Given the description of an element on the screen output the (x, y) to click on. 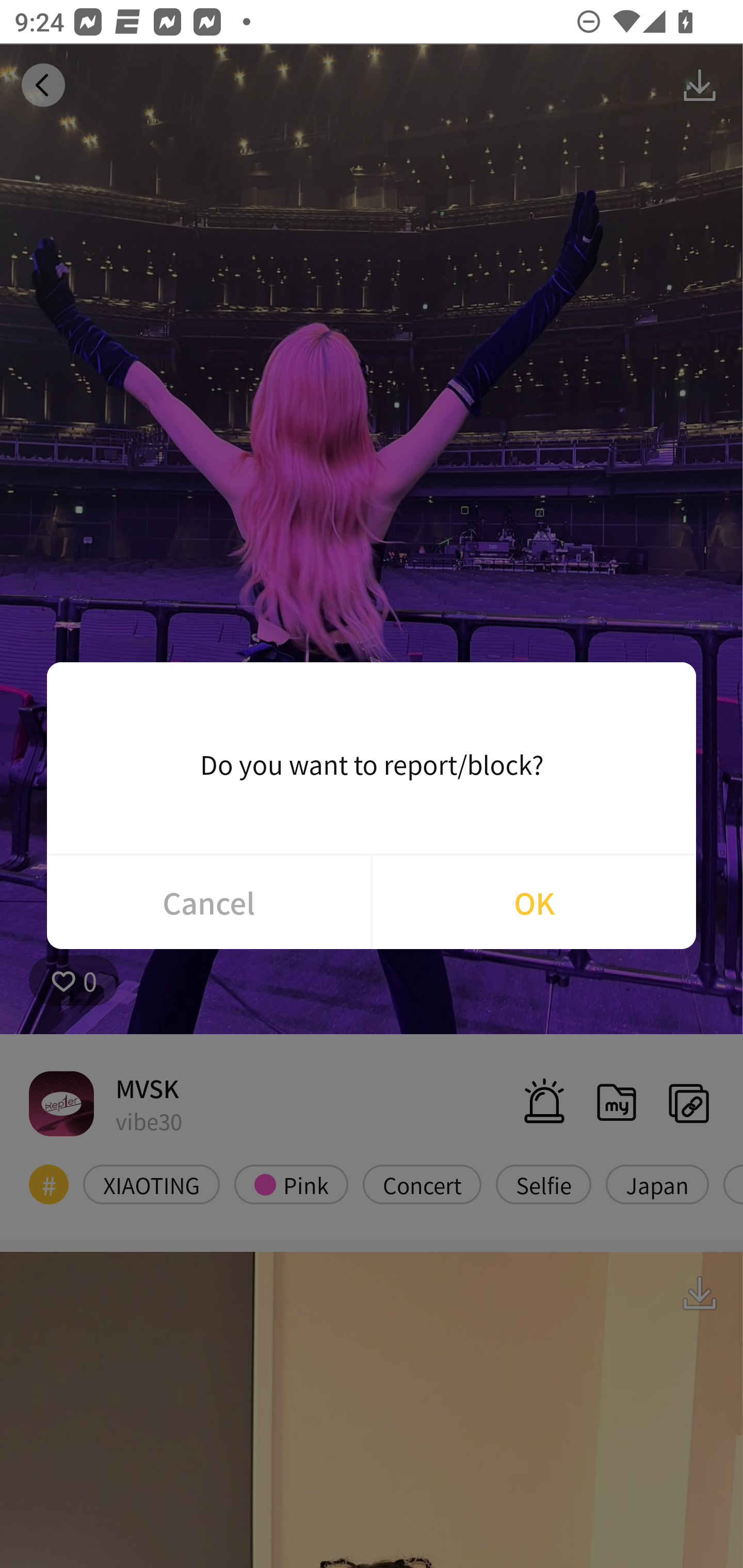
Cancel (208, 902)
OK (534, 902)
